Given the description of an element on the screen output the (x, y) to click on. 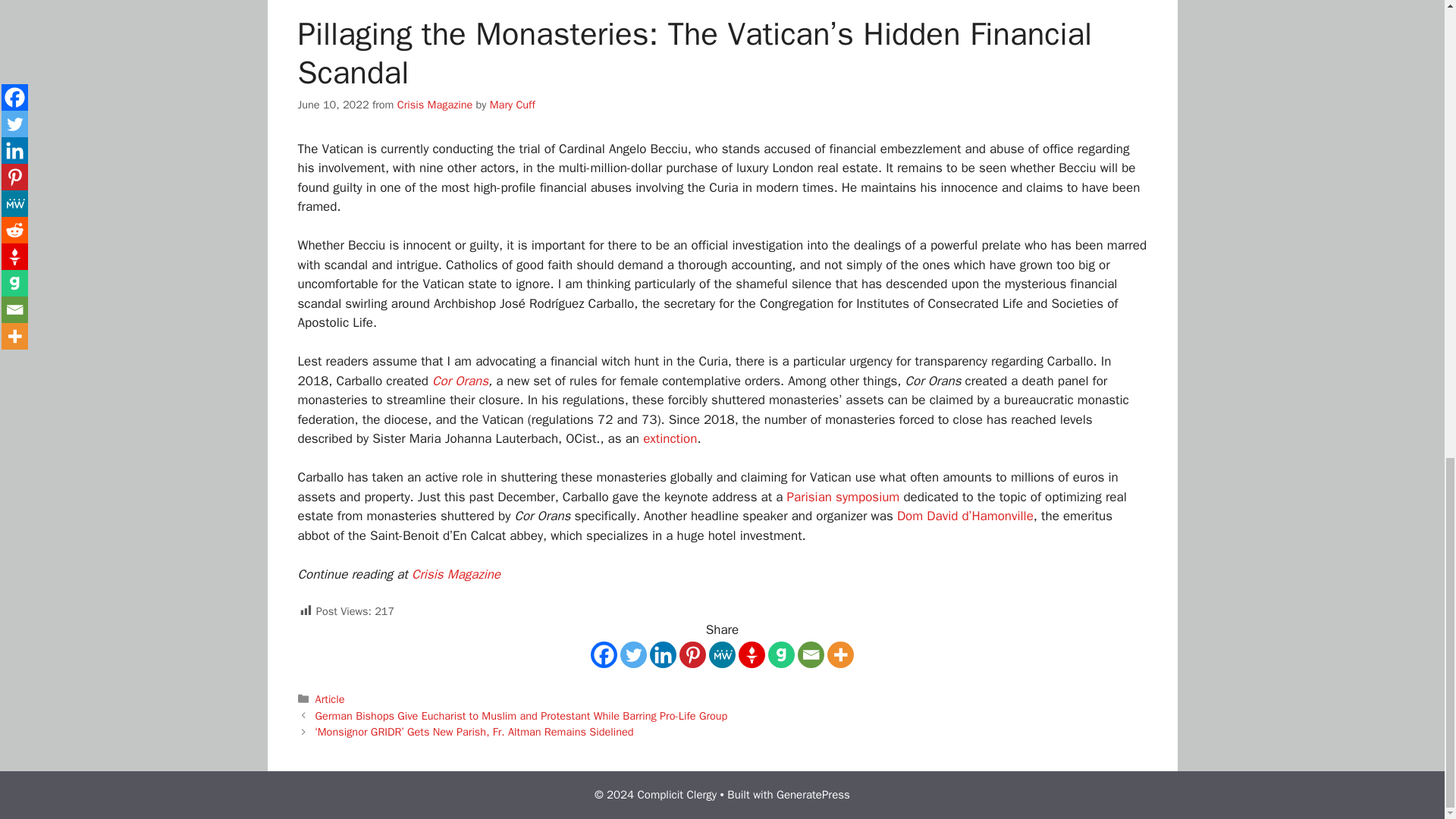
Cor Orans (459, 381)
MeWe (722, 654)
Crisis Magazine (434, 104)
Email (810, 654)
Pinterest (692, 654)
Twitter (633, 654)
Facebook (604, 654)
Gab (781, 654)
More (840, 654)
extinction (670, 438)
